Given the description of an element on the screen output the (x, y) to click on. 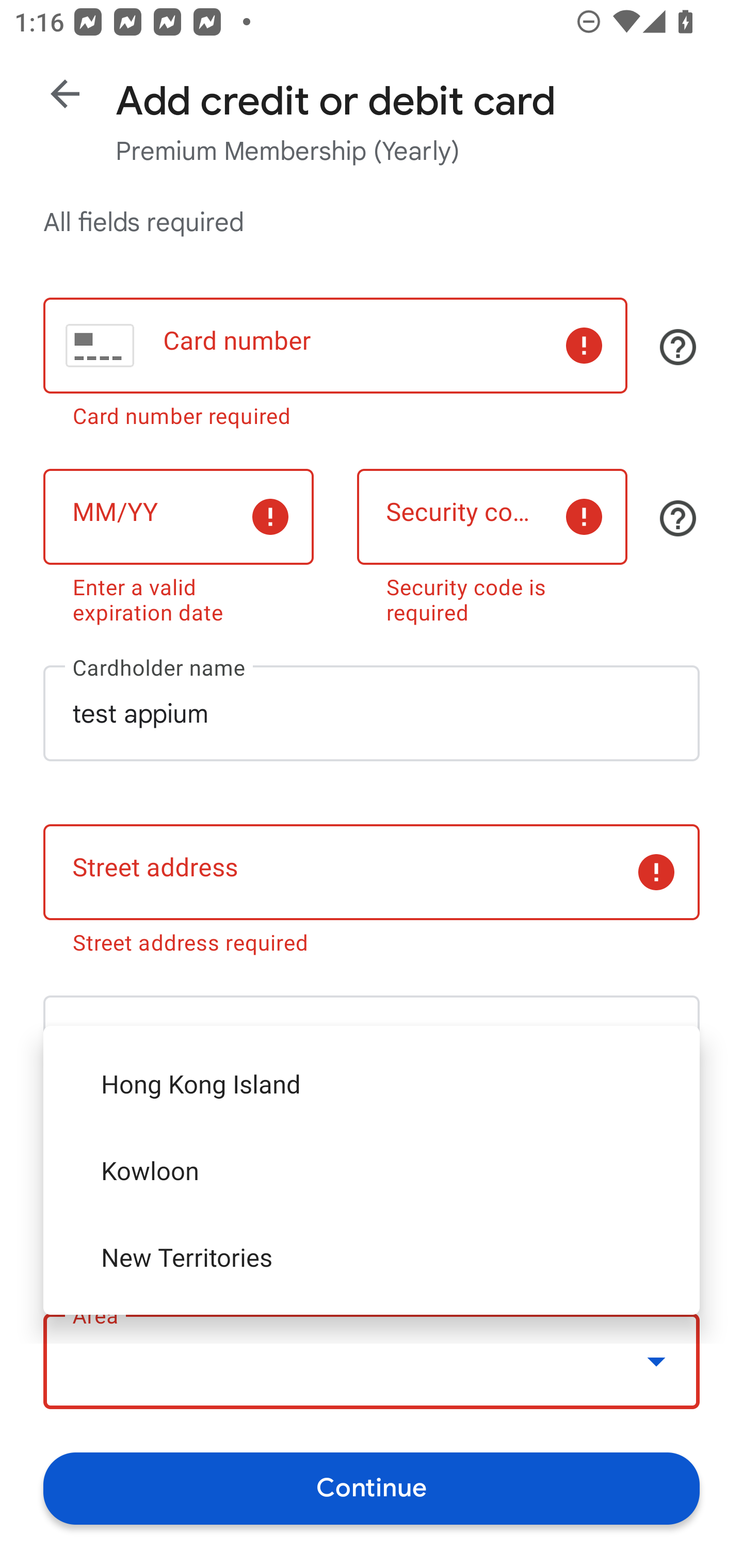
Back (64, 93)
Card number (335, 345)
Button, shows cards that are accepted for payment (677, 347)
Security code Error Security code is required (492, 543)
Expiration date, 2 digit month, 2 digit year (178, 516)
Security code (492, 516)
Security code help (677, 518)
test appium (371, 713)
Street address (371, 872)
Area (371, 1361)
Show dropdown menu (655, 1360)
Continue (371, 1487)
